Given the description of an element on the screen output the (x, y) to click on. 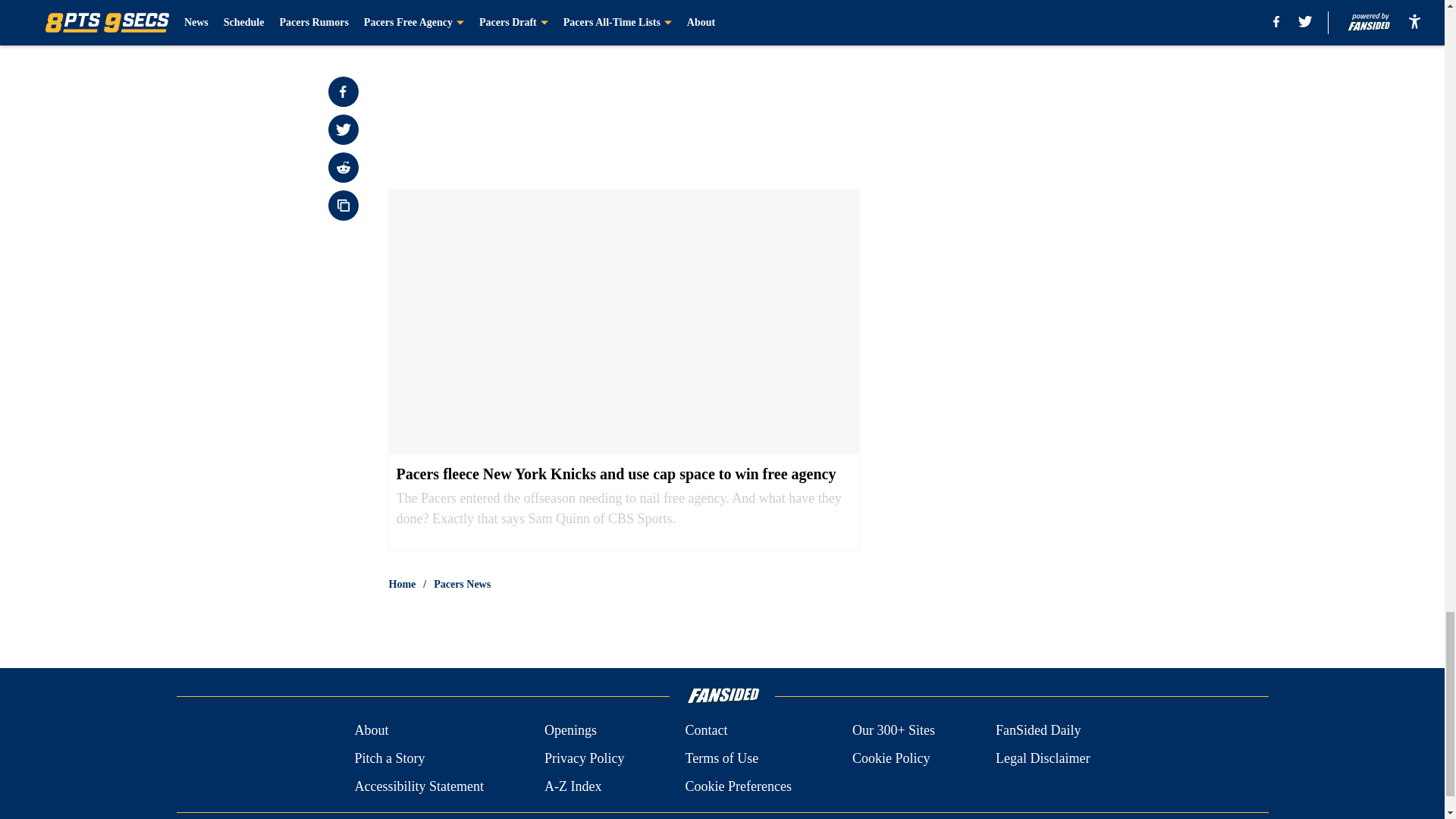
Openings (570, 730)
Pacers News (461, 584)
Contact (705, 730)
About (370, 730)
Home (401, 584)
